Given the description of an element on the screen output the (x, y) to click on. 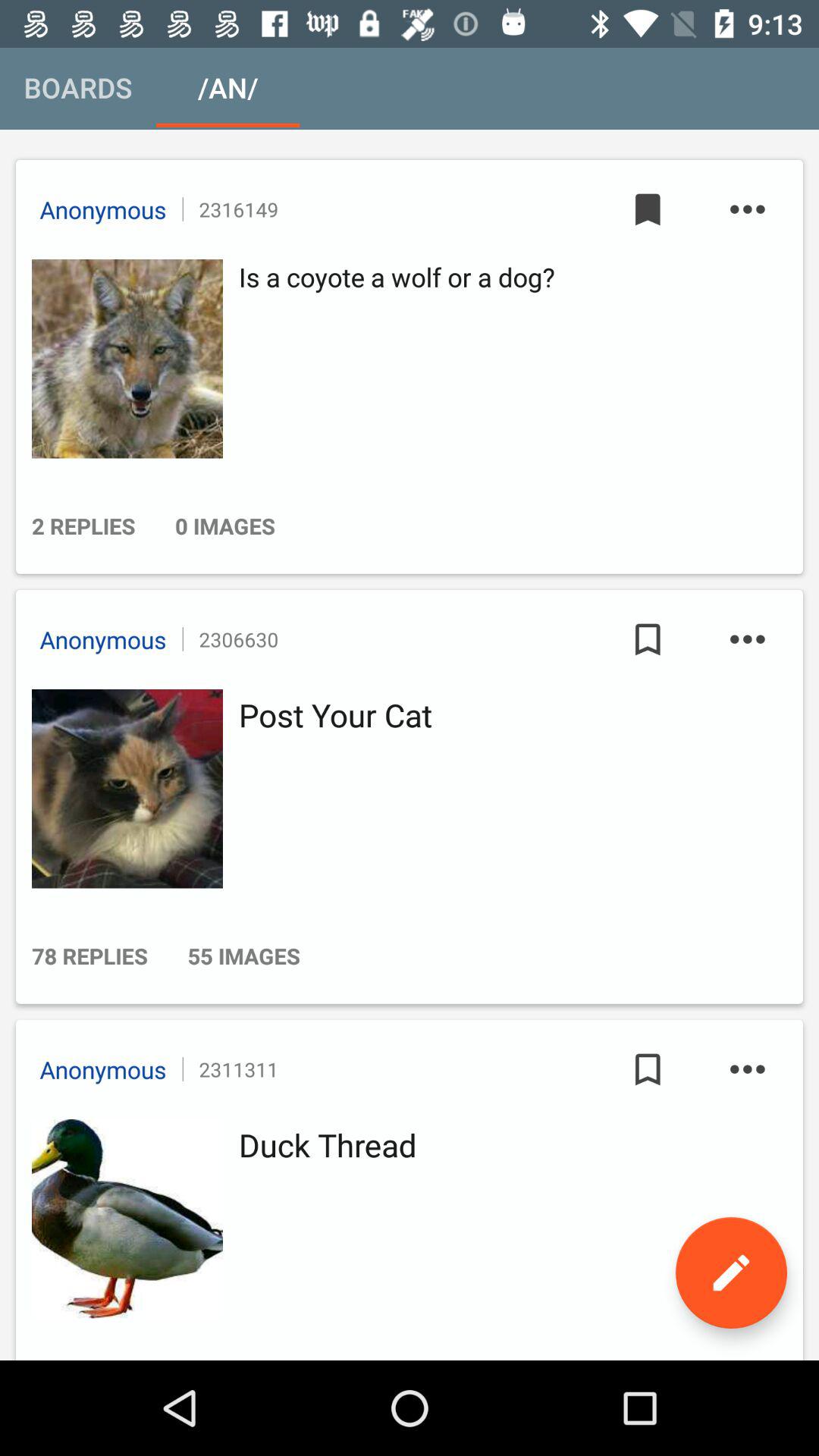
turn on the icon above the duck thread (747, 1069)
